Given the description of an element on the screen output the (x, y) to click on. 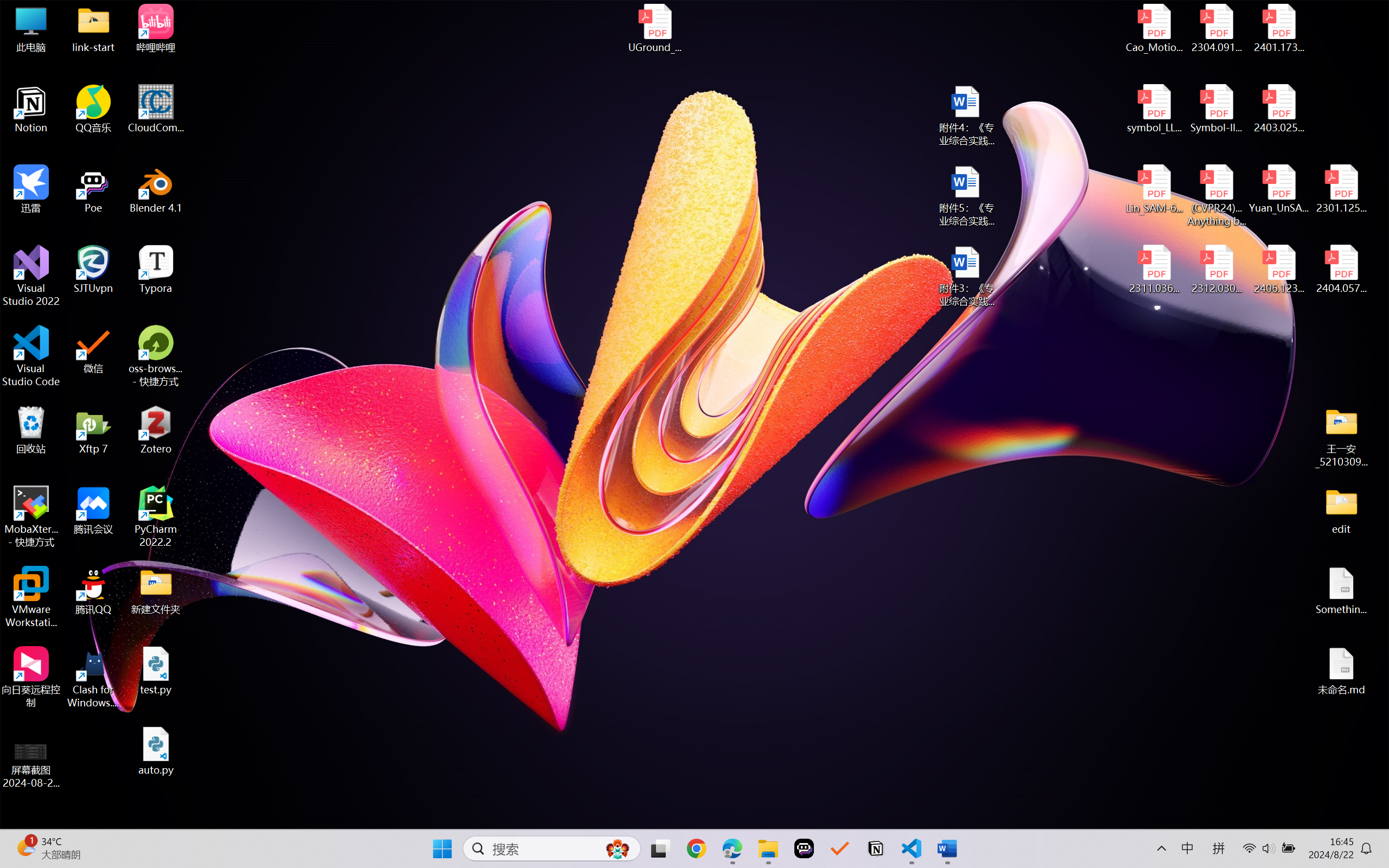
2312.03032v2.pdf (1216, 269)
VMware Workstation Pro (31, 597)
SJTUvpn (93, 269)
